Given the description of an element on the screen output the (x, y) to click on. 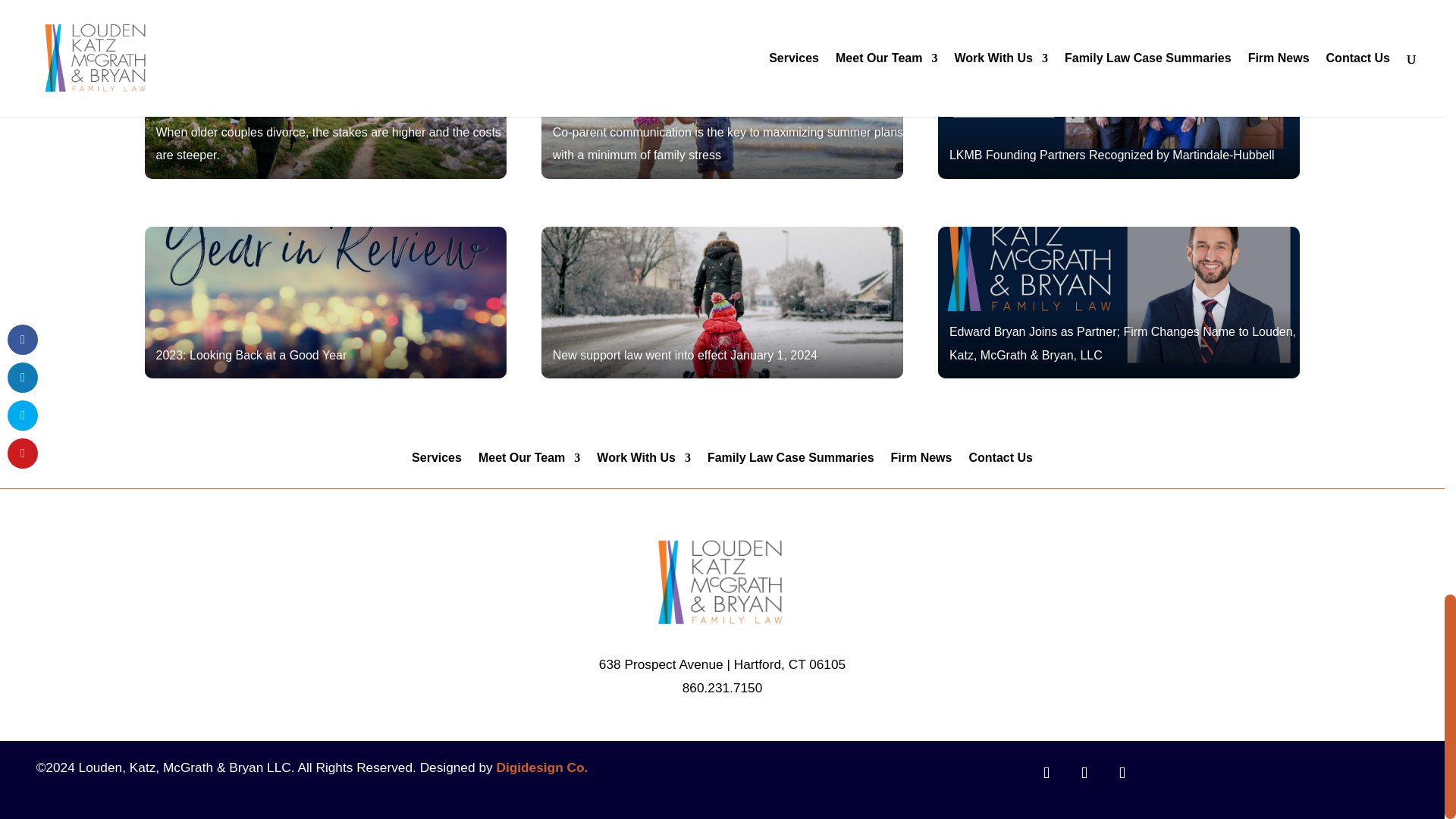
Follow on Facebook (1046, 772)
image005 (721, 581)
New support law went into effect January 1, 2024 (722, 302)
LKMB Founding Partners Recognized by Martindale-Hubbell (1118, 103)
Follow on Instagram (1084, 772)
2023: Looking Back at a Good Year (325, 302)
